Given the description of an element on the screen output the (x, y) to click on. 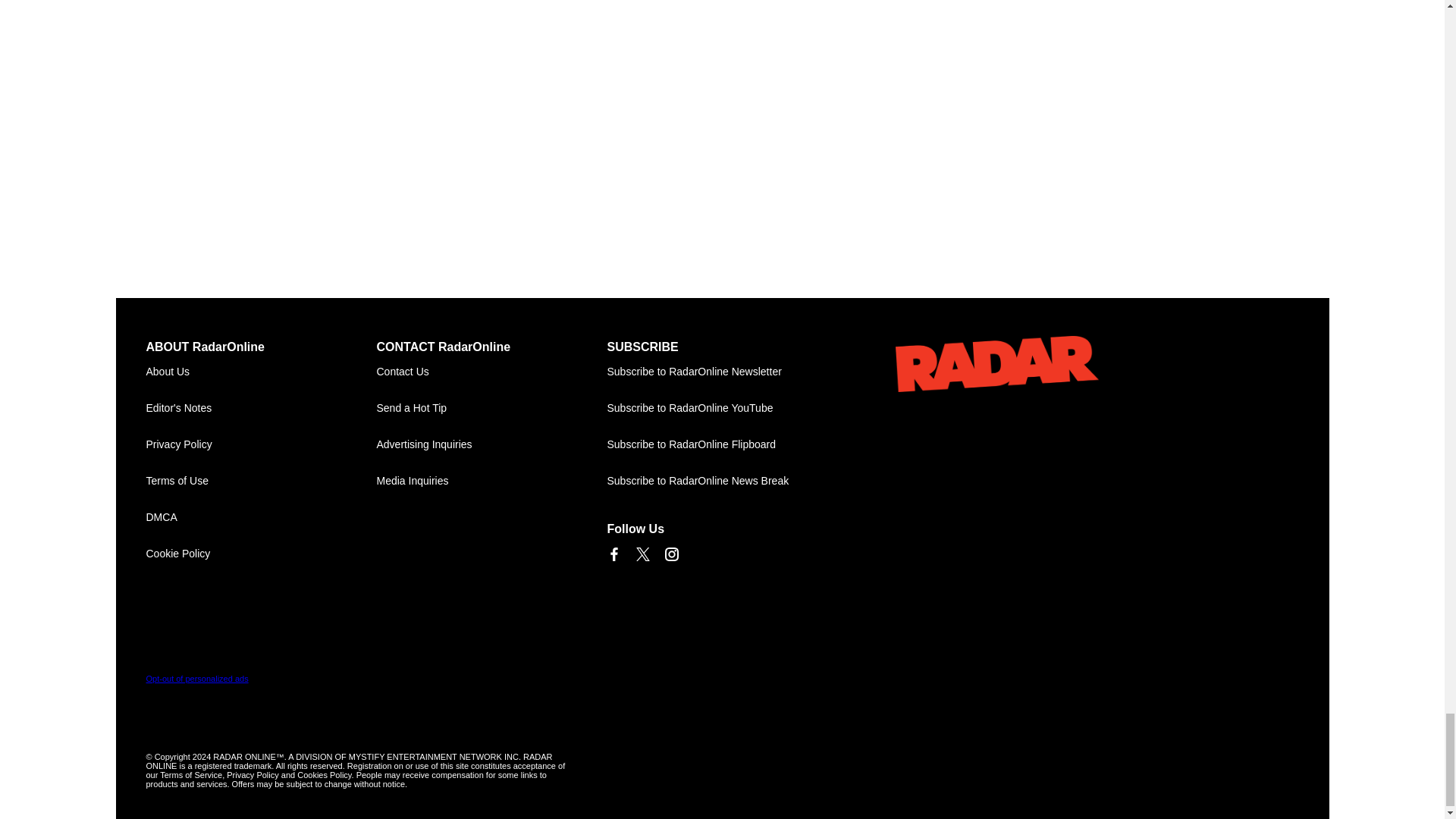
Send a Hot Tip (491, 408)
Media Inquiries (491, 481)
Editor's Notes (260, 408)
Link to Instagram (670, 554)
About Us (260, 371)
Link to Facebook (613, 554)
Privacy Policy (260, 444)
Terms of Use (260, 481)
Cookie Policy (260, 554)
Subscribe to RadarOnline Flipboard (722, 444)
